Given the description of an element on the screen output the (x, y) to click on. 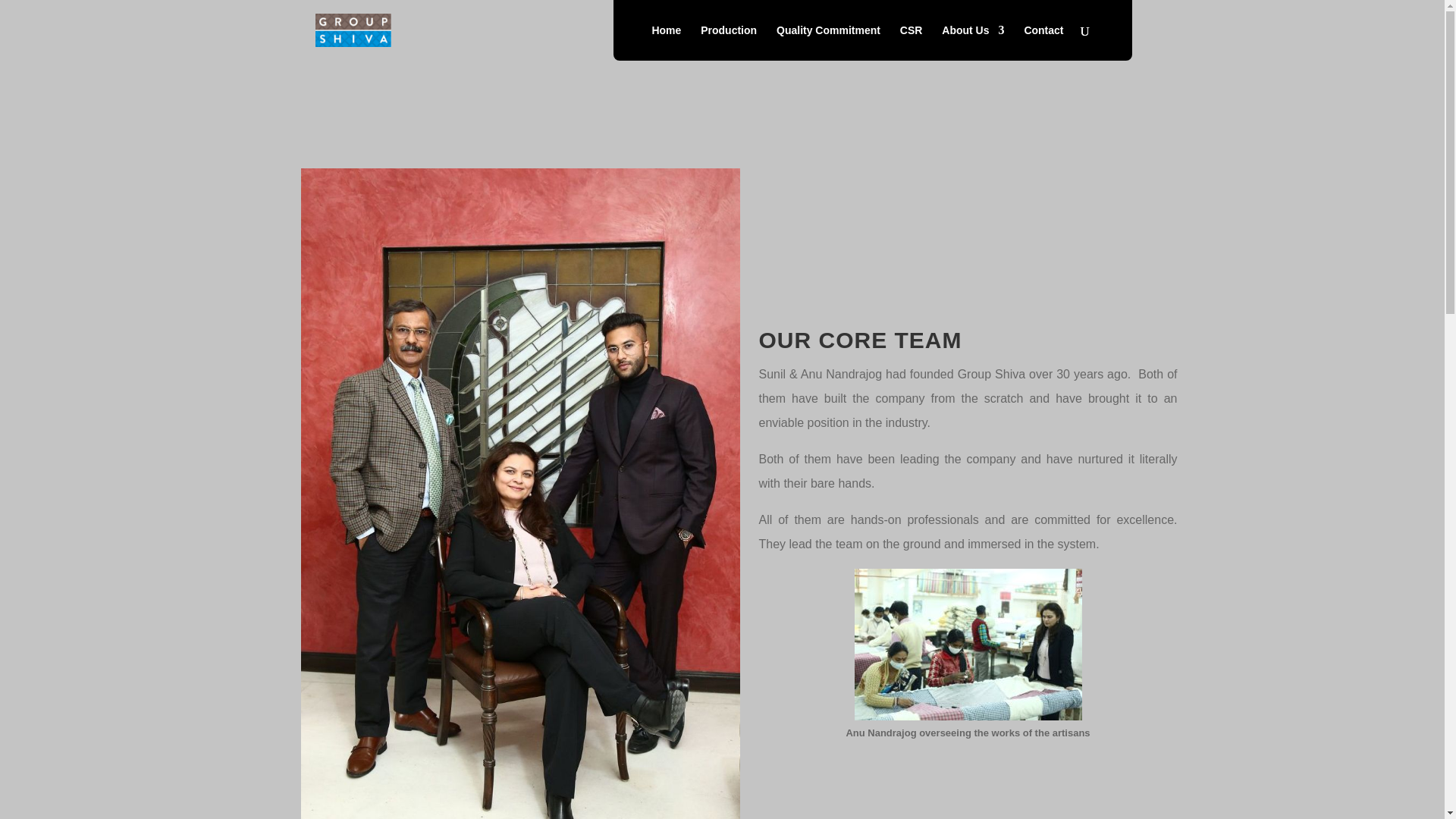
Contact (1042, 42)
Quality Commitment (828, 42)
About Us (973, 42)
Production (728, 42)
